Given the description of an element on the screen output the (x, y) to click on. 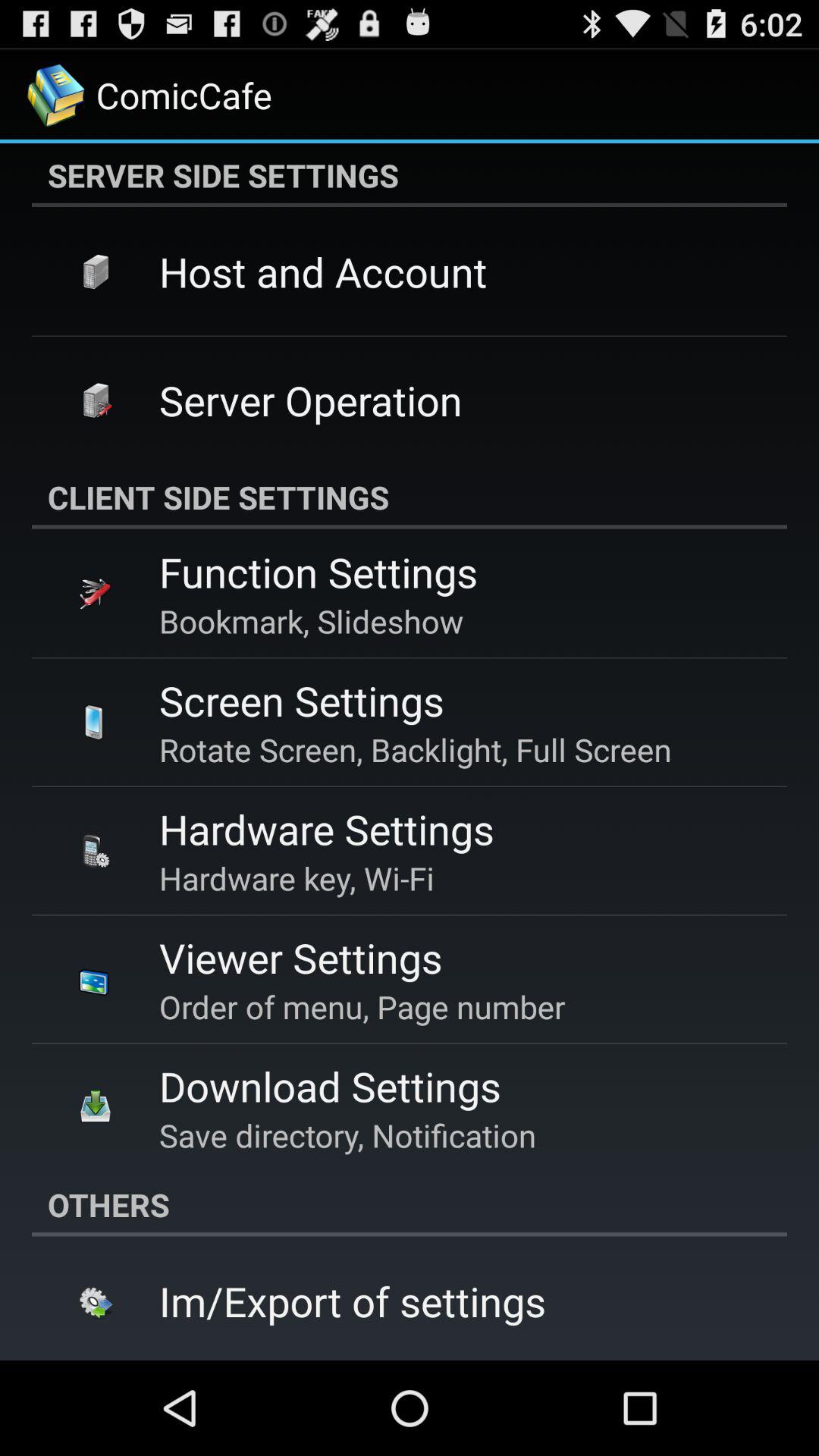
jump until hardware key wi app (296, 877)
